Given the description of an element on the screen output the (x, y) to click on. 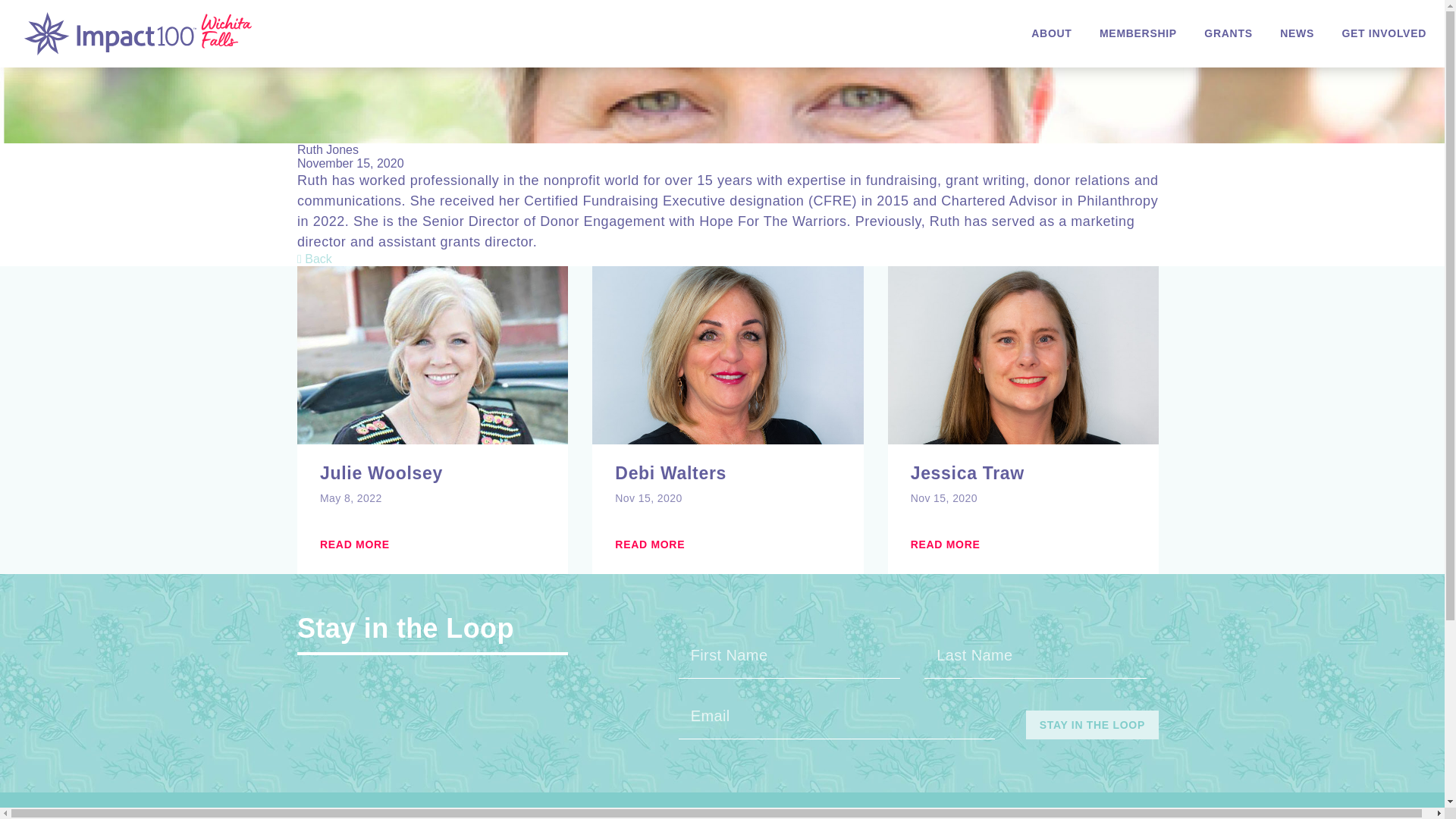
GET INVOLVED (1383, 33)
Stay in the Loop (1092, 724)
MEMBERSHIP (1137, 33)
READ MORE (355, 544)
Julie Woolsey (432, 474)
GRANTS (1228, 33)
ABOUT (1050, 33)
Stay in the Loop (1092, 724)
NEWS (1296, 33)
READ MORE (945, 544)
READ MORE (649, 544)
Jessica Traw (1023, 474)
Debi Walters (727, 474)
